Given the description of an element on the screen output the (x, y) to click on. 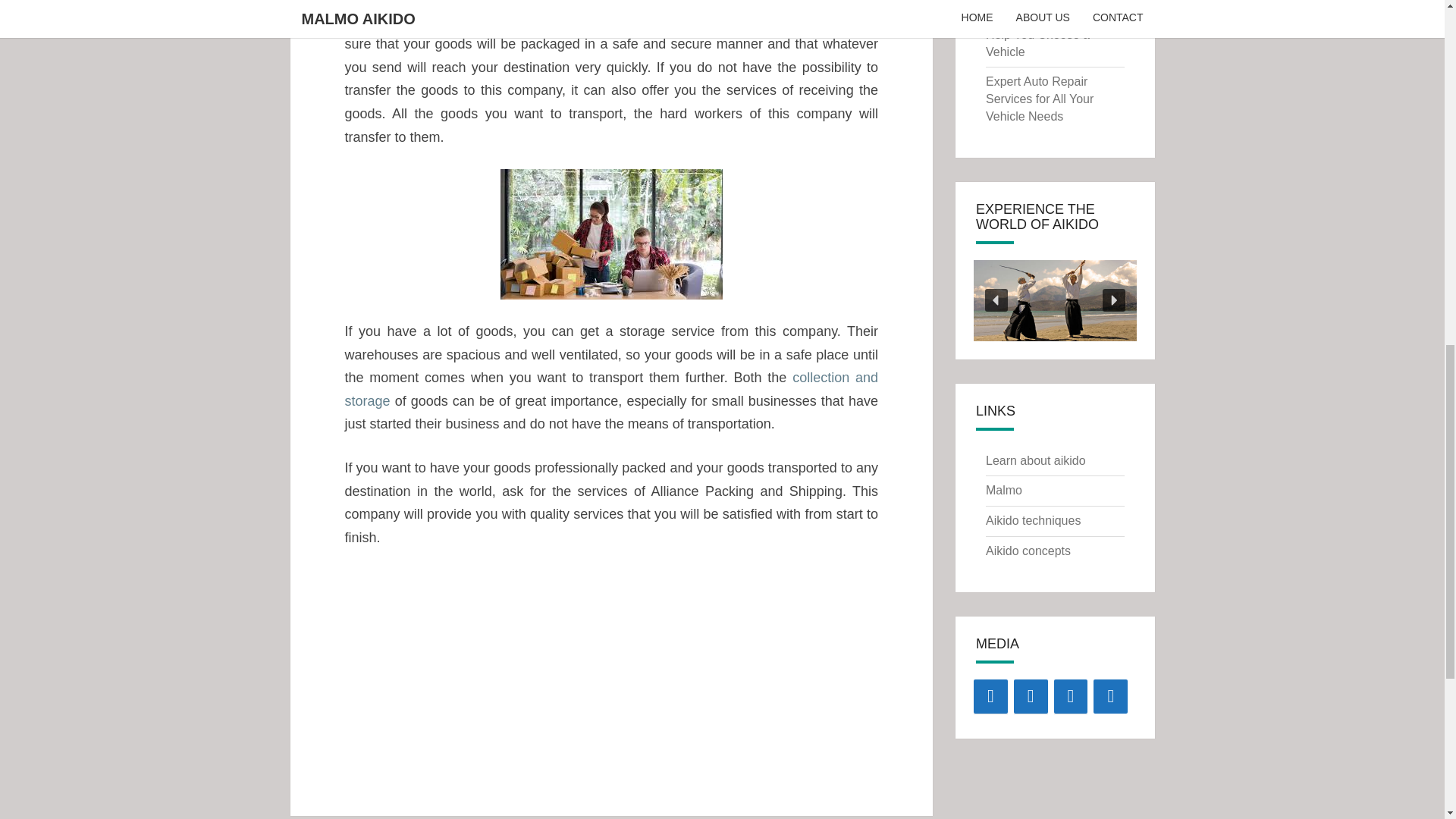
Aikido techniques (1032, 520)
Instagram (1030, 696)
Aikido concepts (1027, 550)
YouTube (1070, 696)
collection and storage (610, 389)
Malmo (1003, 490)
Facebook (990, 696)
YouTube video player (610, 667)
Mazda Dealers Who Will Help You Choose a Vehicle (1051, 34)
Expert Auto Repair Services for All Your Vehicle Needs (1039, 98)
Learn about aikido (1035, 460)
